Given the description of an element on the screen output the (x, y) to click on. 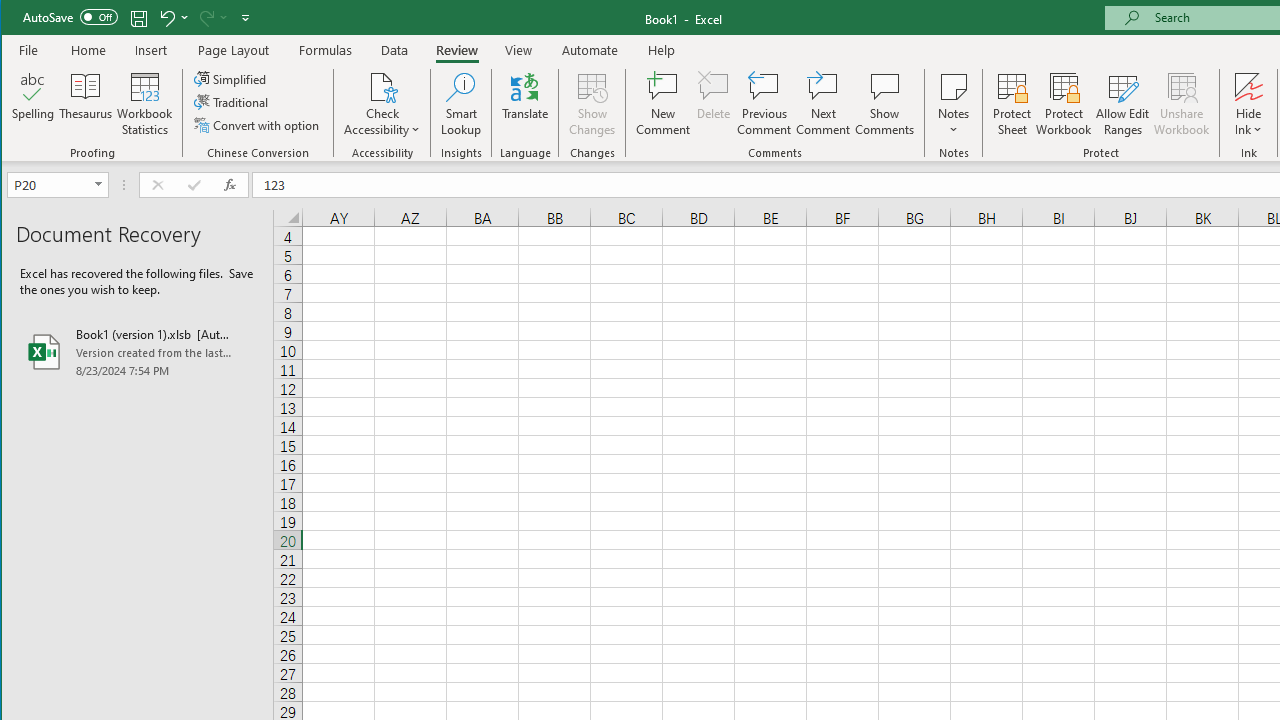
Previous Comment (763, 104)
Convert with option (258, 124)
More Options (1248, 123)
Workbook Statistics (145, 104)
Open (99, 184)
Review (456, 50)
Undo (172, 17)
Book1 (version 1).xlsb  [AutoRecovered] (137, 352)
Hide Ink (1248, 104)
Show Comments (884, 104)
Redo (205, 17)
Thesaurus... (86, 104)
Simplified (231, 78)
Smart Lookup (461, 104)
